Given the description of an element on the screen output the (x, y) to click on. 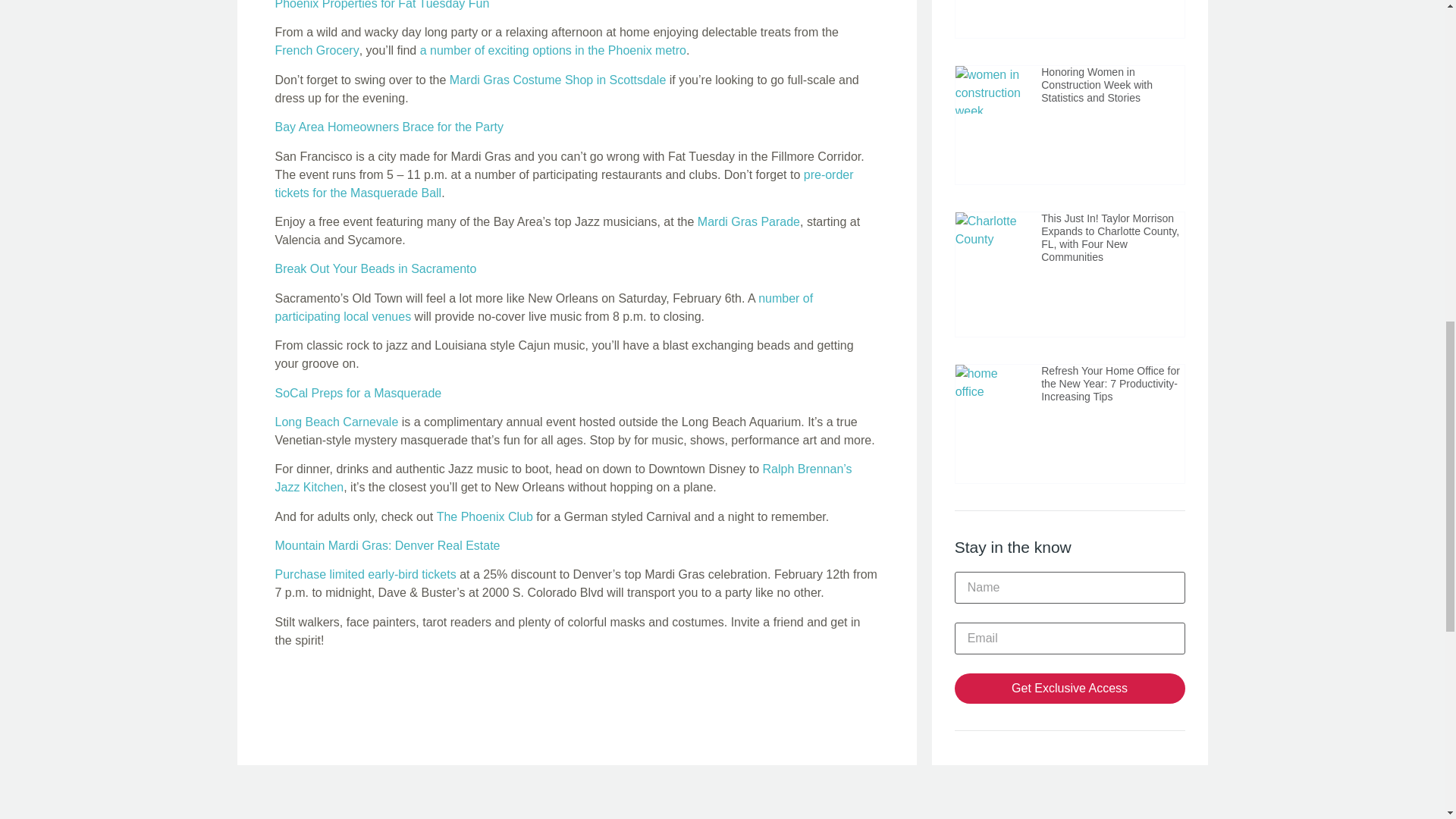
The Phoenix Club (484, 516)
a number of exciting options in the Phoenix metro (552, 50)
Bay Area Homeowners Brace for the Party (388, 126)
Mardi Gras Parade (748, 221)
pre-order tickets for the Masquerade Ball (564, 183)
Long Beach Carnevale (336, 421)
Mardi Gras Costume Shop in Scottsdale (557, 79)
Mountain Mardi Gras: Denver Real Estate (387, 545)
Purchase limited early-bird tickets (365, 574)
number of participating local venues (543, 306)
